Given the description of an element on the screen output the (x, y) to click on. 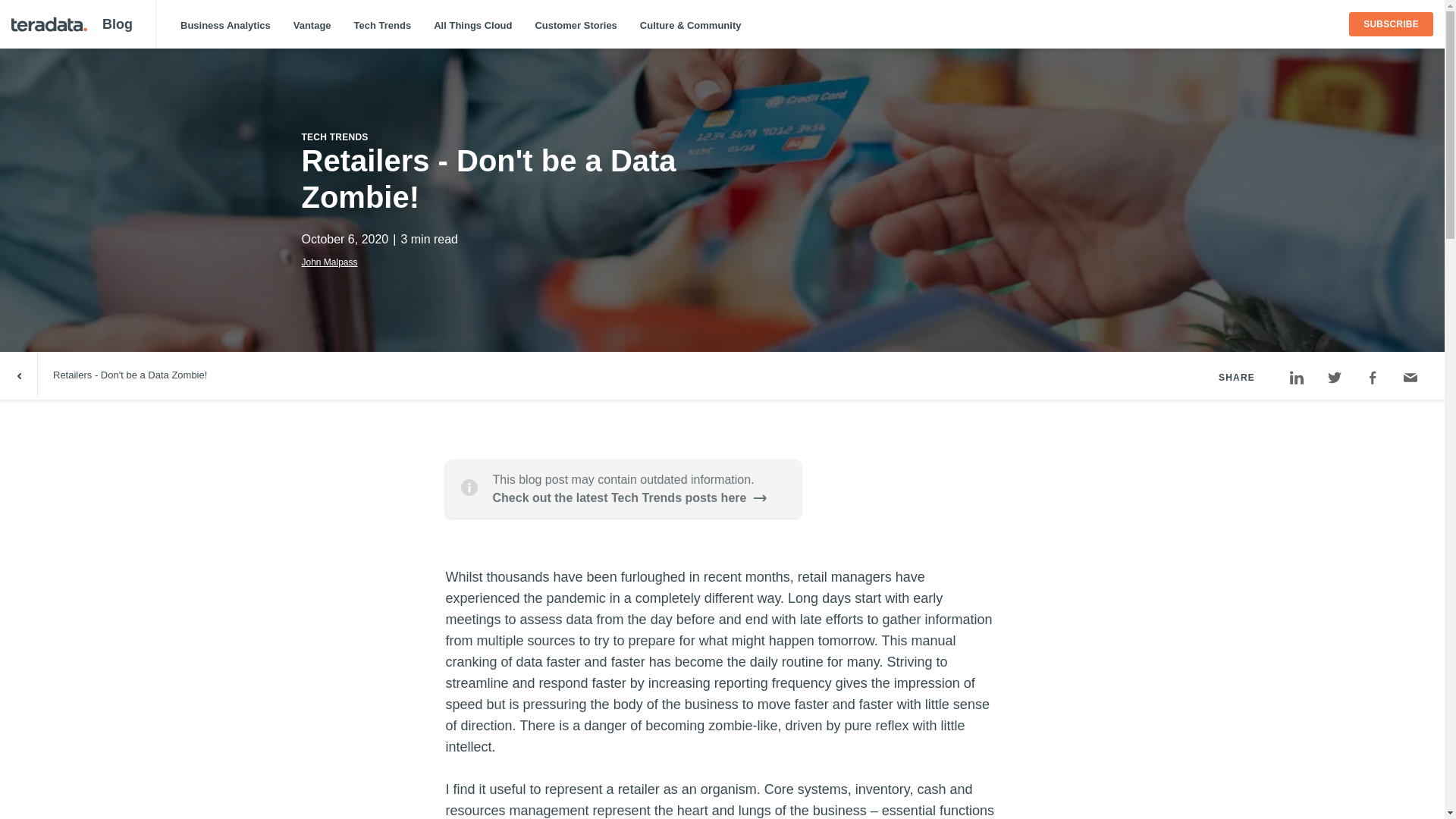
SUBSCRIBE (1390, 24)
Blog (116, 24)
Vantage (312, 25)
Business Analytics (225, 25)
Customer Stories (574, 25)
Tech Trends (382, 25)
All Things Cloud (472, 25)
John Malpass (329, 262)
